Given the description of an element on the screen output the (x, y) to click on. 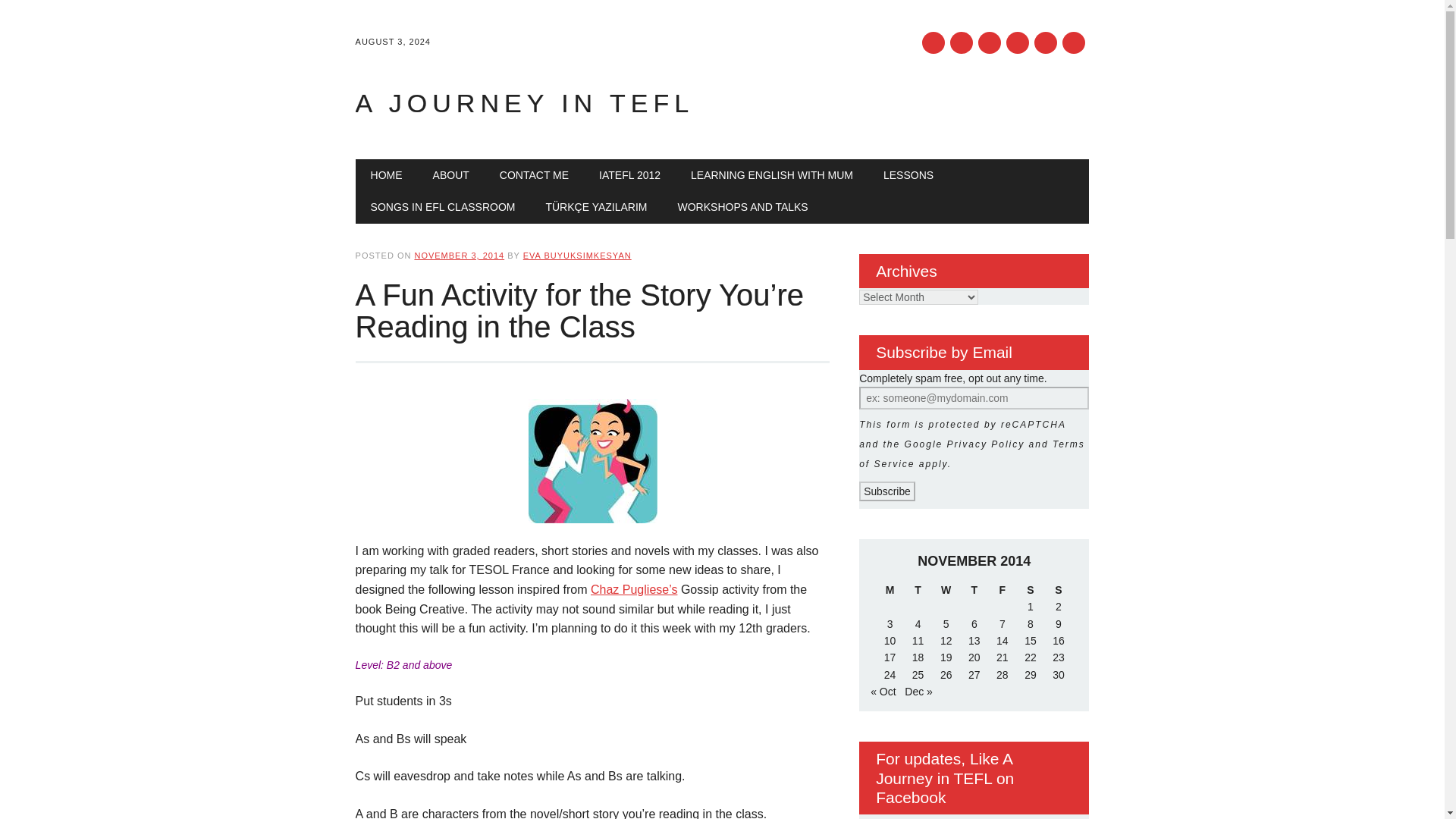
A JOURNEY IN TEFL (524, 102)
LESSONS (908, 174)
3:59 pm (458, 255)
ABOUT (450, 174)
Thursday (973, 589)
CONTACT ME (533, 174)
IATEFL 2012 (629, 174)
Tuesday (917, 589)
HOME (386, 174)
SONGS IN EFL CLASSROOM (443, 206)
Facebook (932, 42)
Monday (890, 589)
WORKSHOPS AND TALKS (743, 206)
Linkedin (1017, 42)
Pinterest (989, 42)
